Given the description of an element on the screen output the (x, y) to click on. 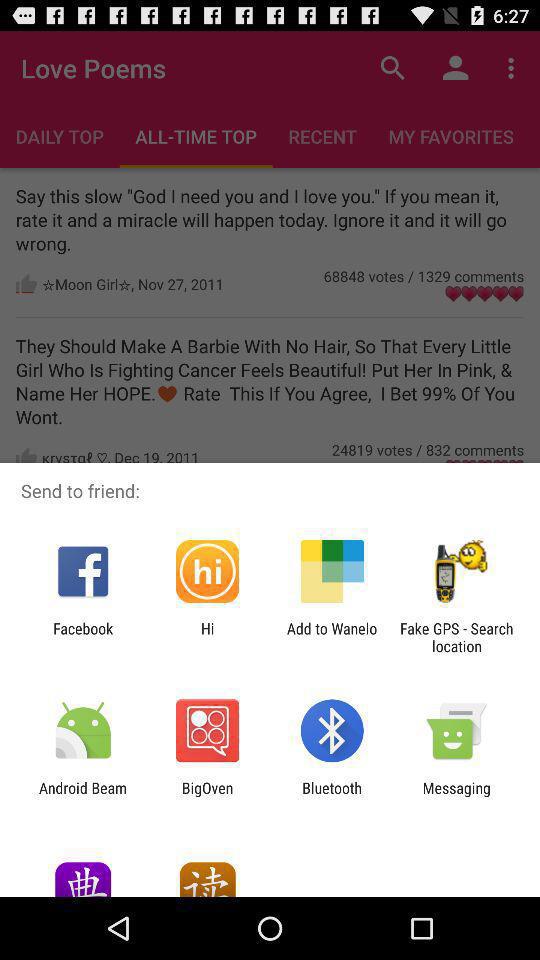
click icon to the left of the bluetooth (207, 796)
